Given the description of an element on the screen output the (x, y) to click on. 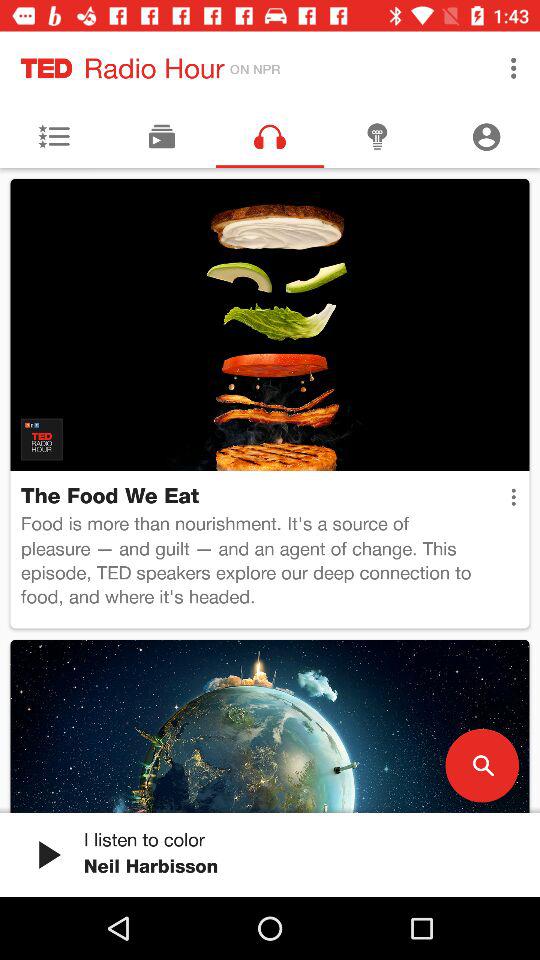
tap the icon next to food is more (513, 497)
